Given the description of an element on the screen output the (x, y) to click on. 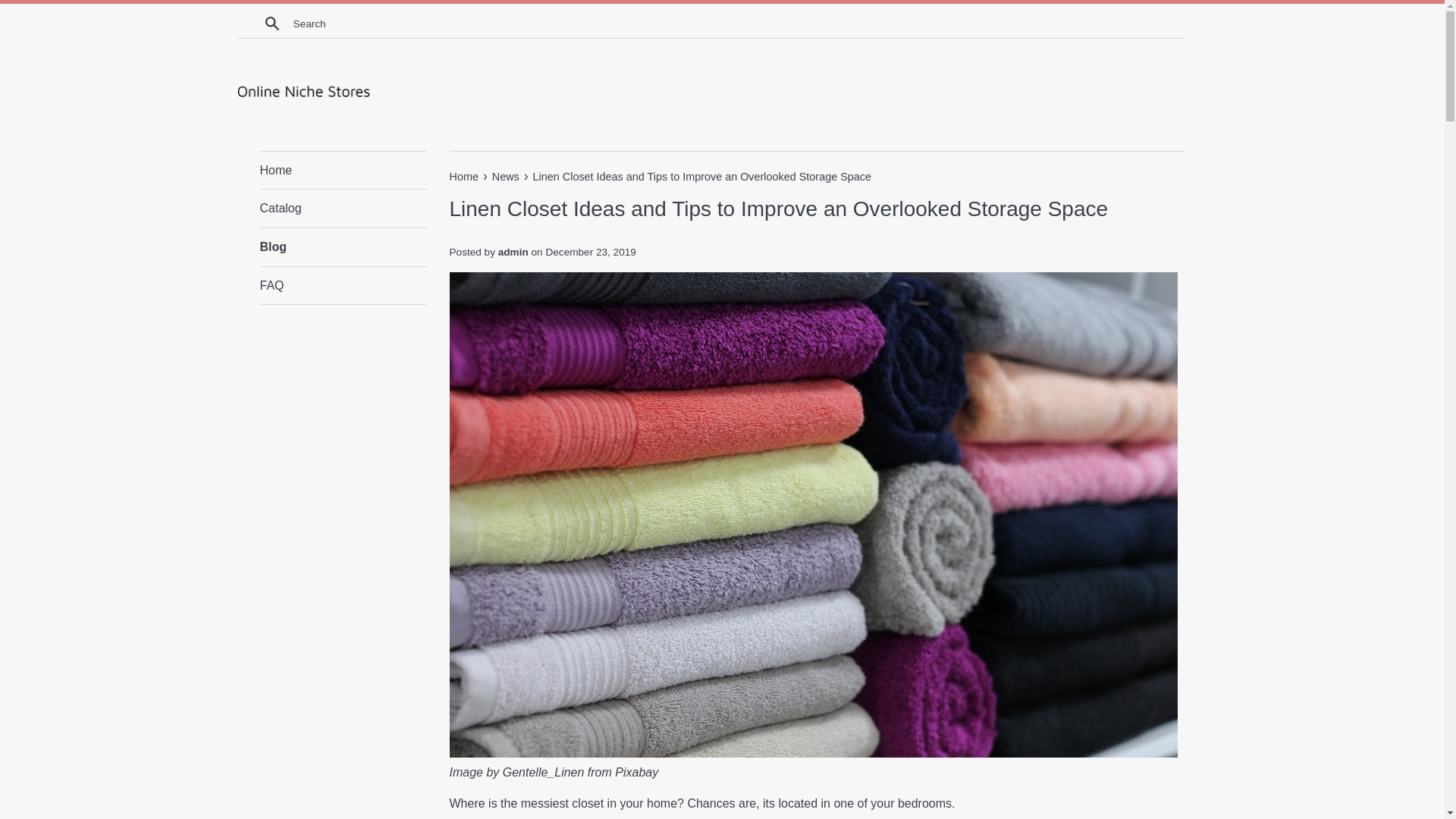
Home (342, 170)
Catalog (342, 208)
Back to the frontpage (464, 176)
FAQ (342, 285)
News (507, 176)
Search (271, 22)
Home (464, 176)
Blog (342, 247)
